Given the description of an element on the screen output the (x, y) to click on. 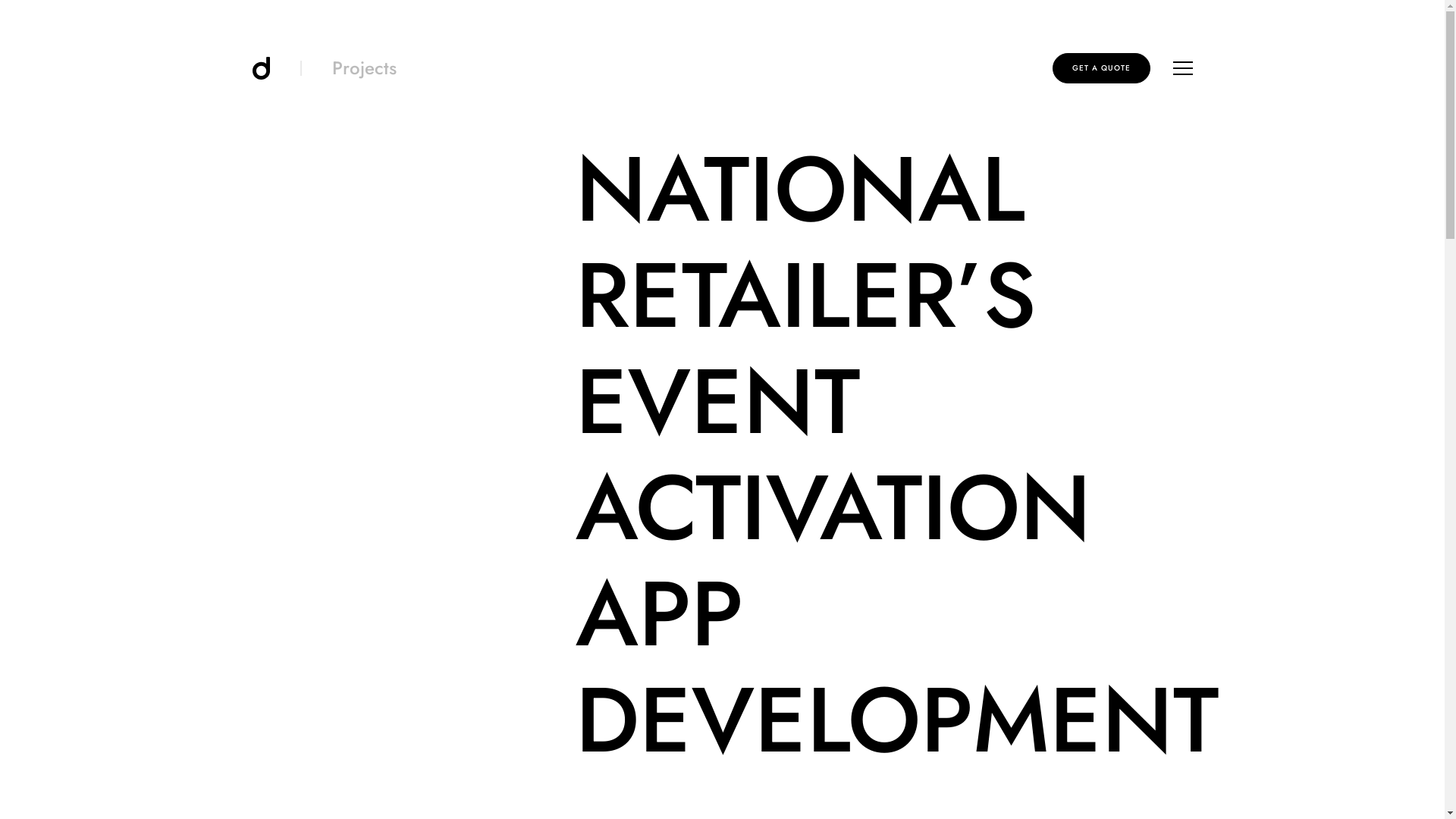
Projects Element type: text (364, 67)
GET A QUOTE Element type: text (1101, 68)
